Given the description of an element on the screen output the (x, y) to click on. 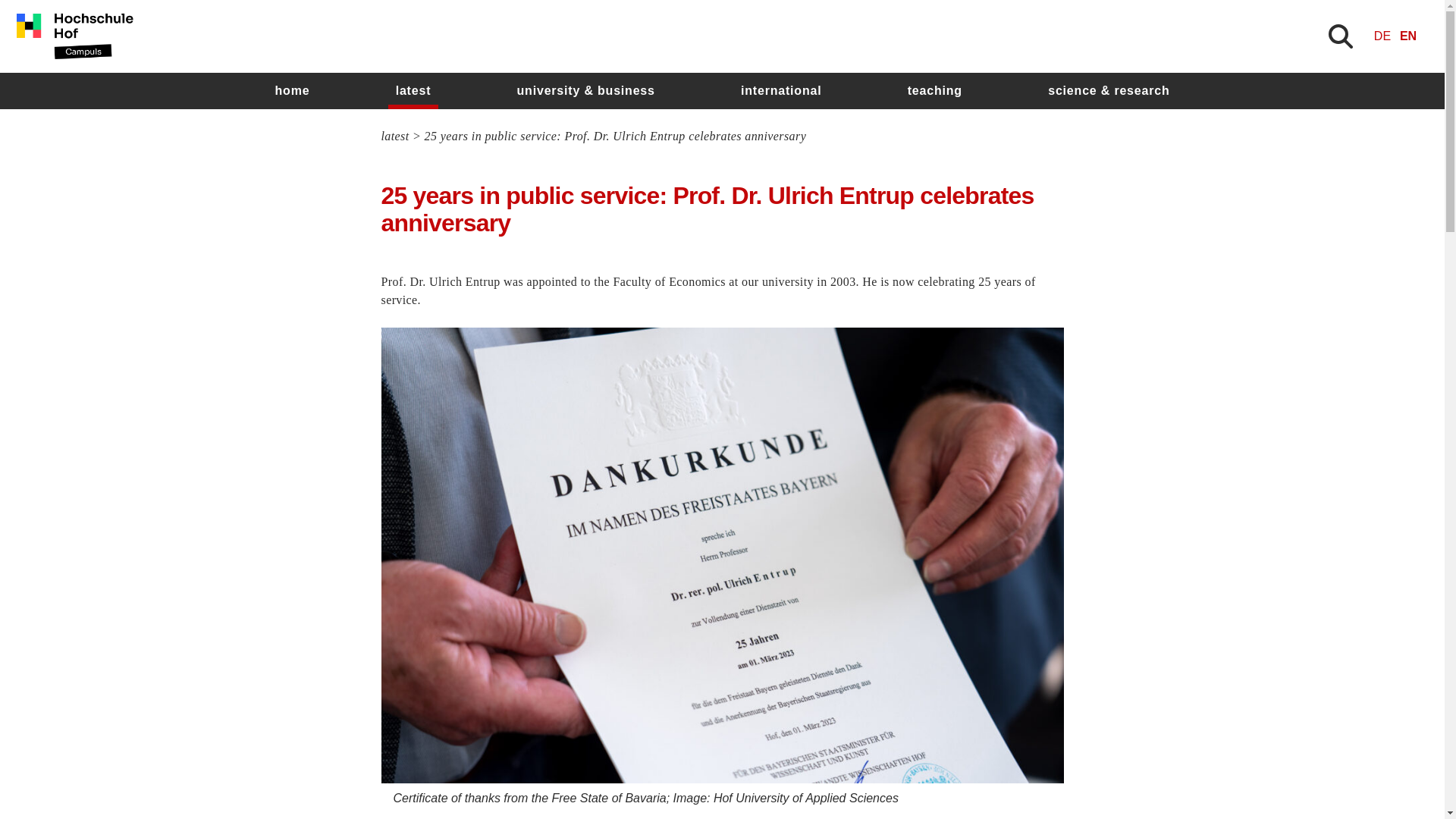
search (908, 457)
teaching (934, 90)
DE (1382, 35)
EN (1407, 35)
latest (413, 90)
home (291, 90)
international (780, 90)
